Given the description of an element on the screen output the (x, y) to click on. 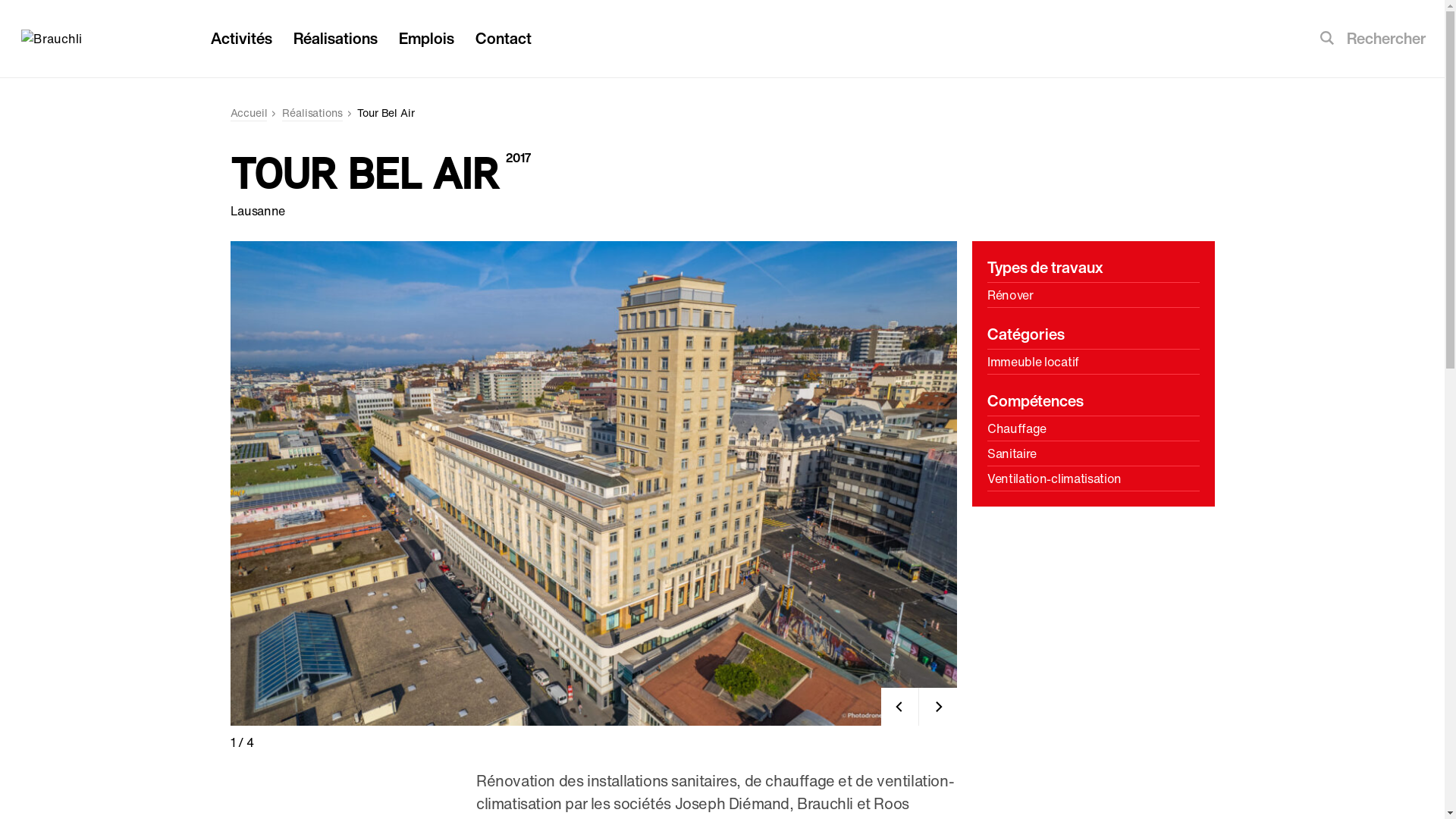
Accueil Element type: text (248, 113)
Contact Element type: text (503, 38)
Emplois Element type: text (426, 38)
Soumettre la recherche Element type: text (1326, 38)
